Given the description of an element on the screen output the (x, y) to click on. 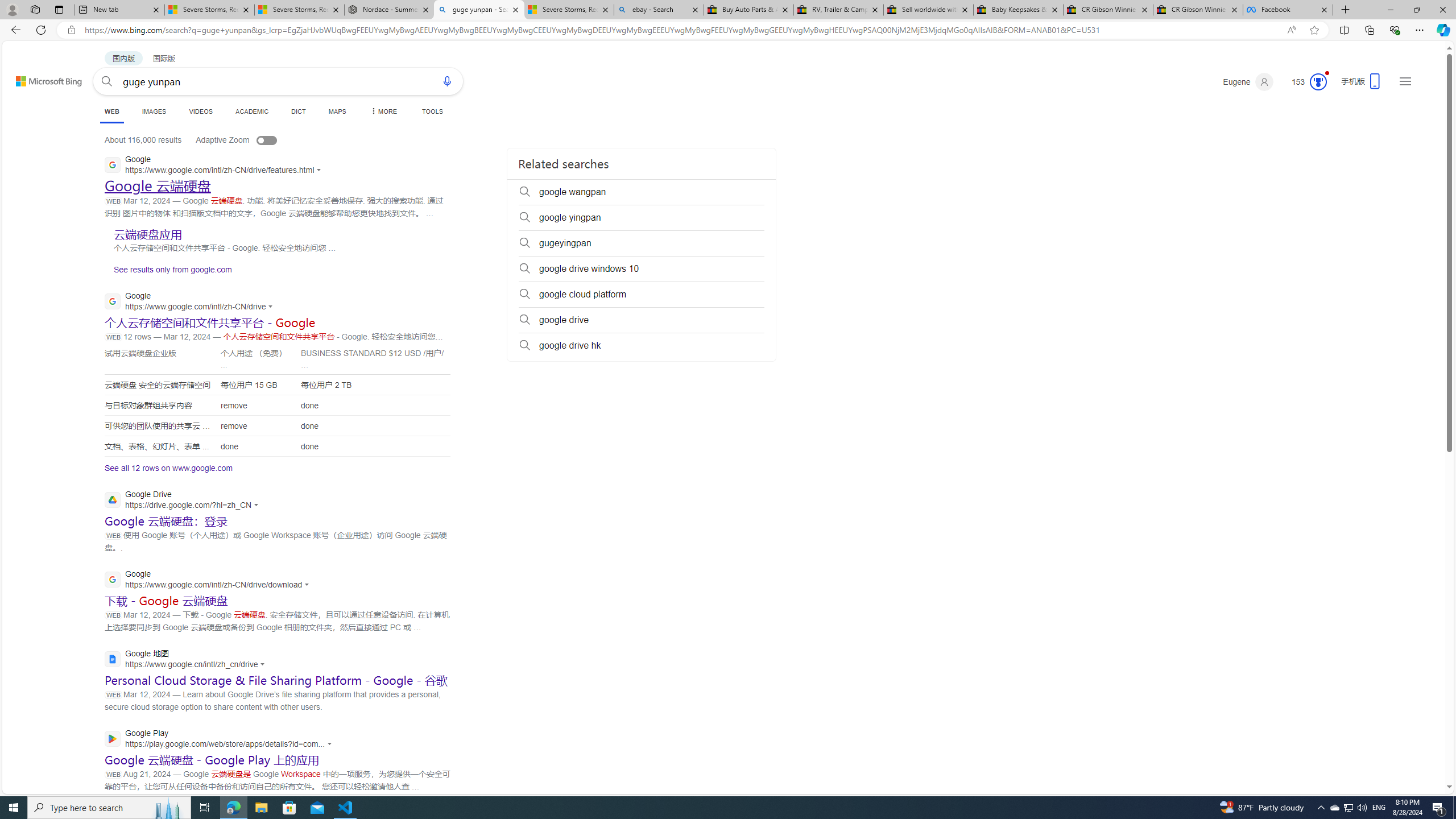
Eugene (1248, 81)
MAPS (336, 111)
